Given the description of an element on the screen output the (x, y) to click on. 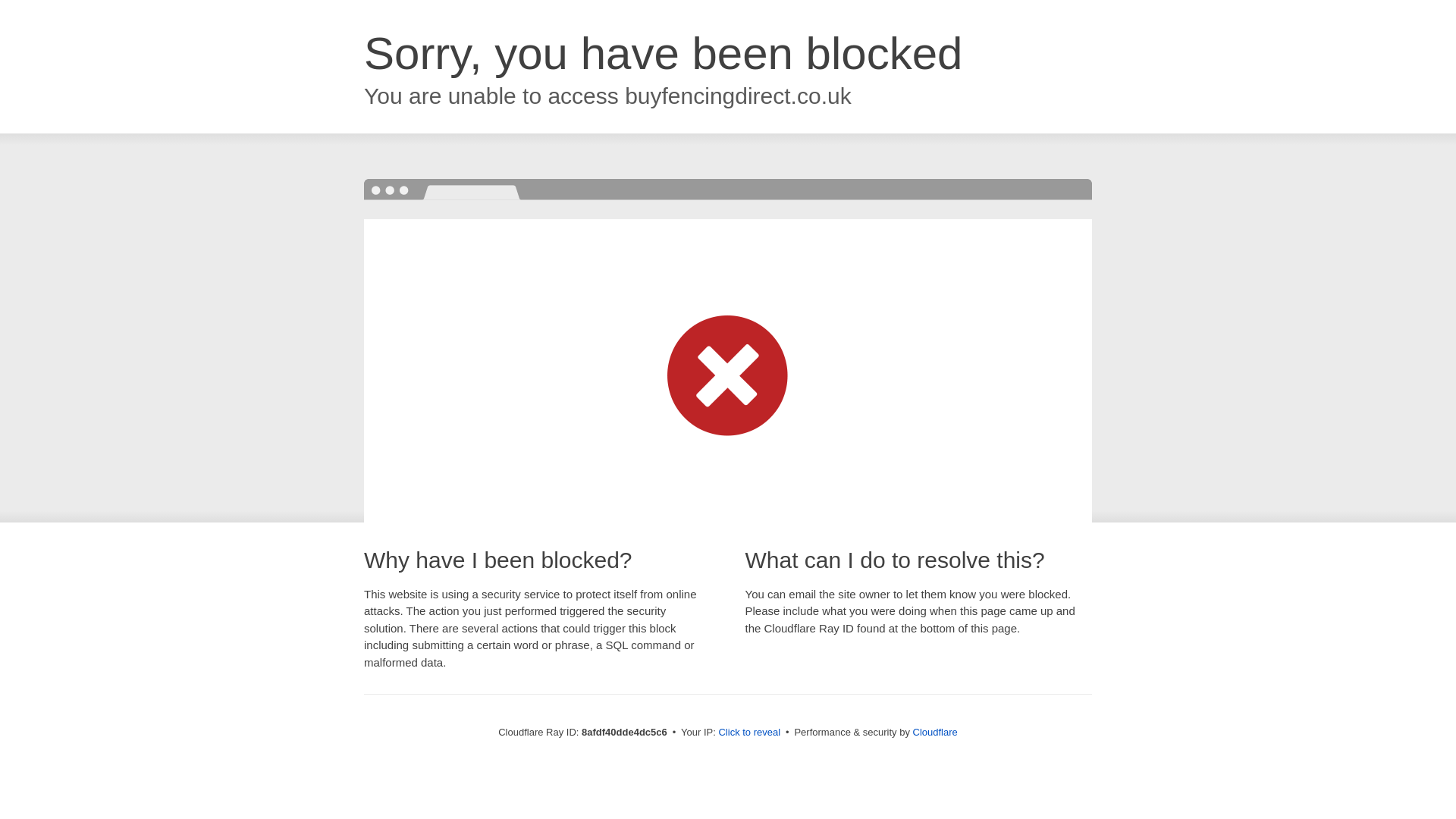
Cloudflare (935, 731)
Click to reveal (748, 732)
